Given the description of an element on the screen output the (x, y) to click on. 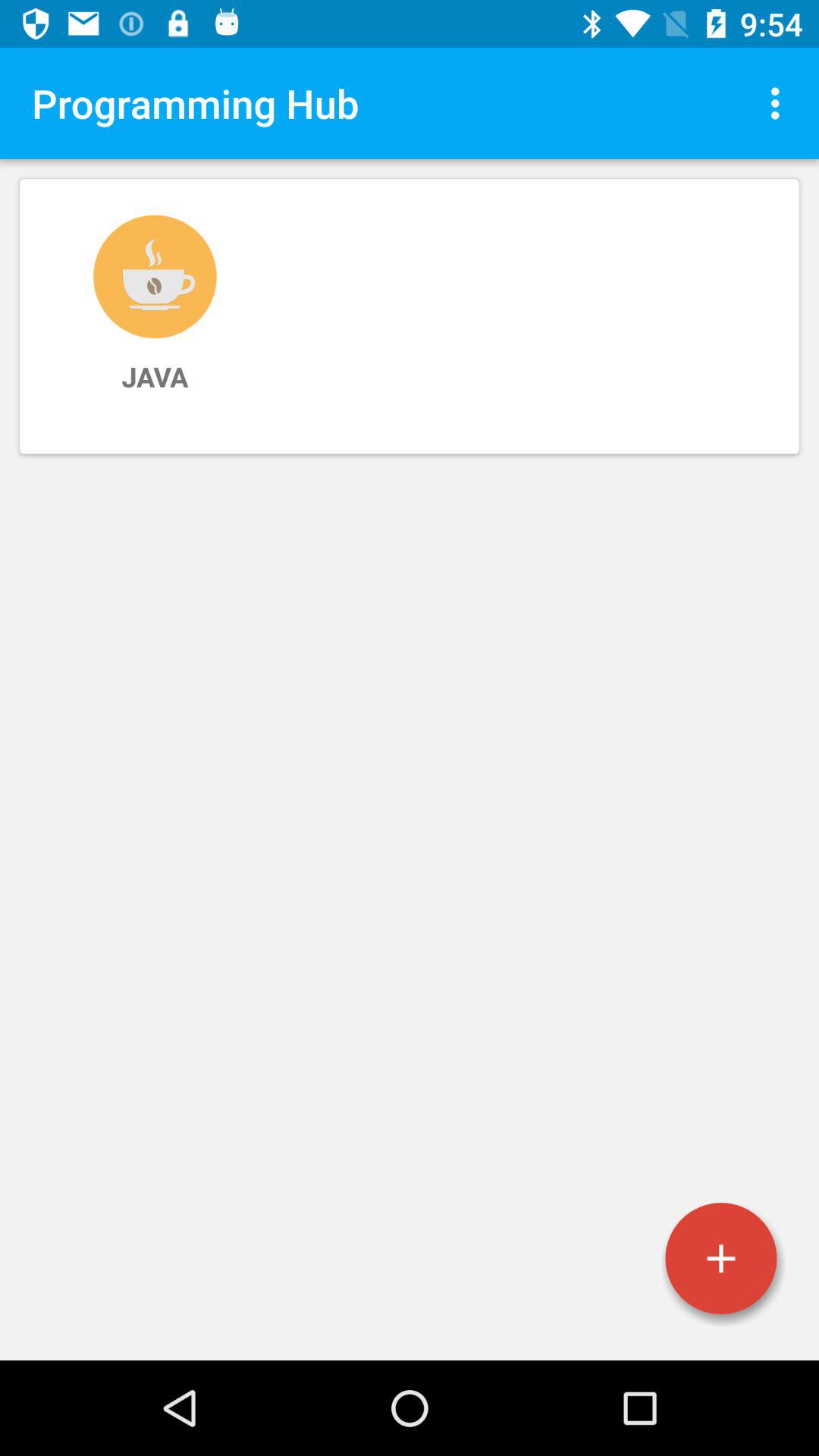
add programing language (721, 1258)
